Given the description of an element on the screen output the (x, y) to click on. 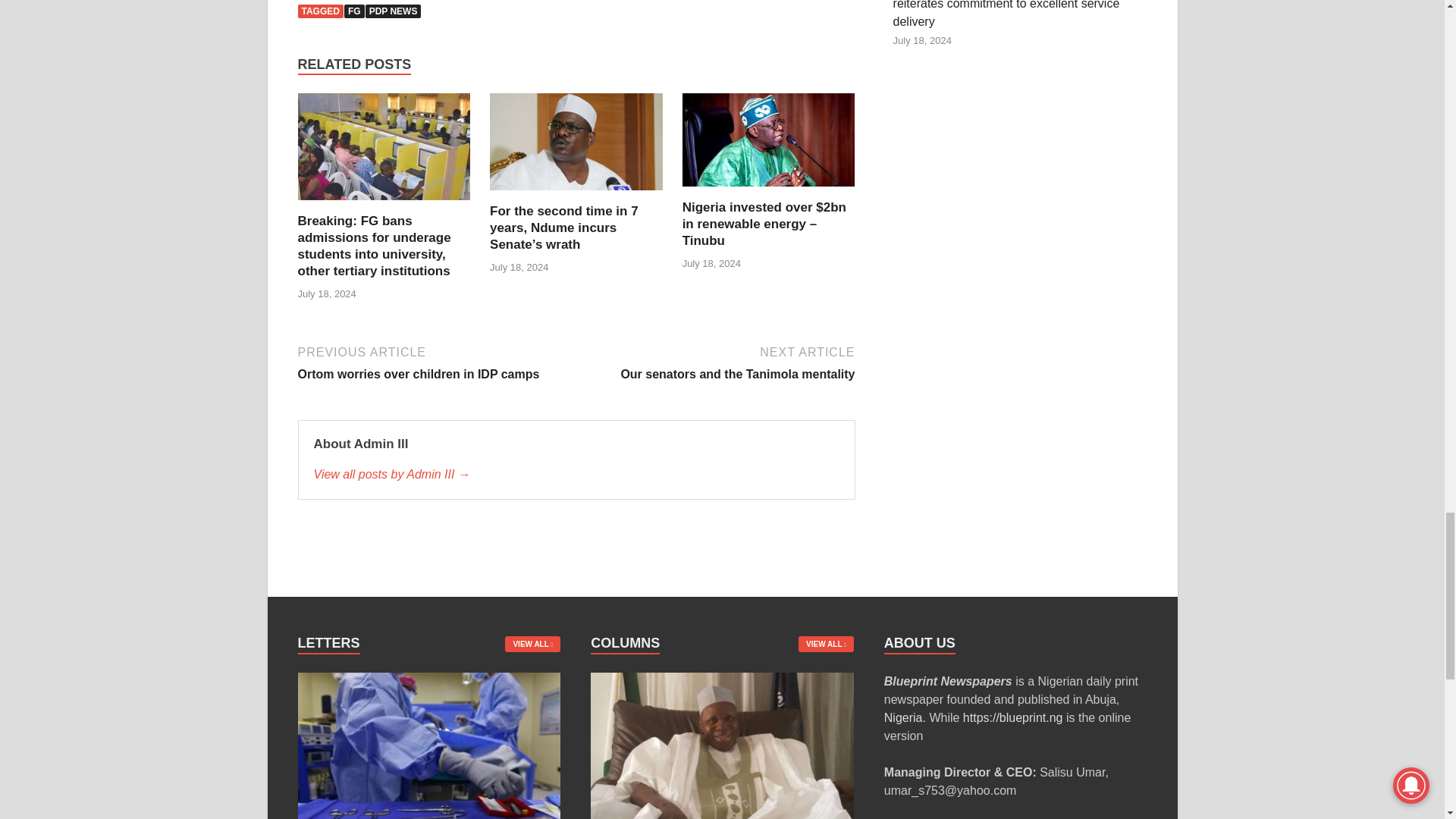
Admin III (577, 475)
